Given the description of an element on the screen output the (x, y) to click on. 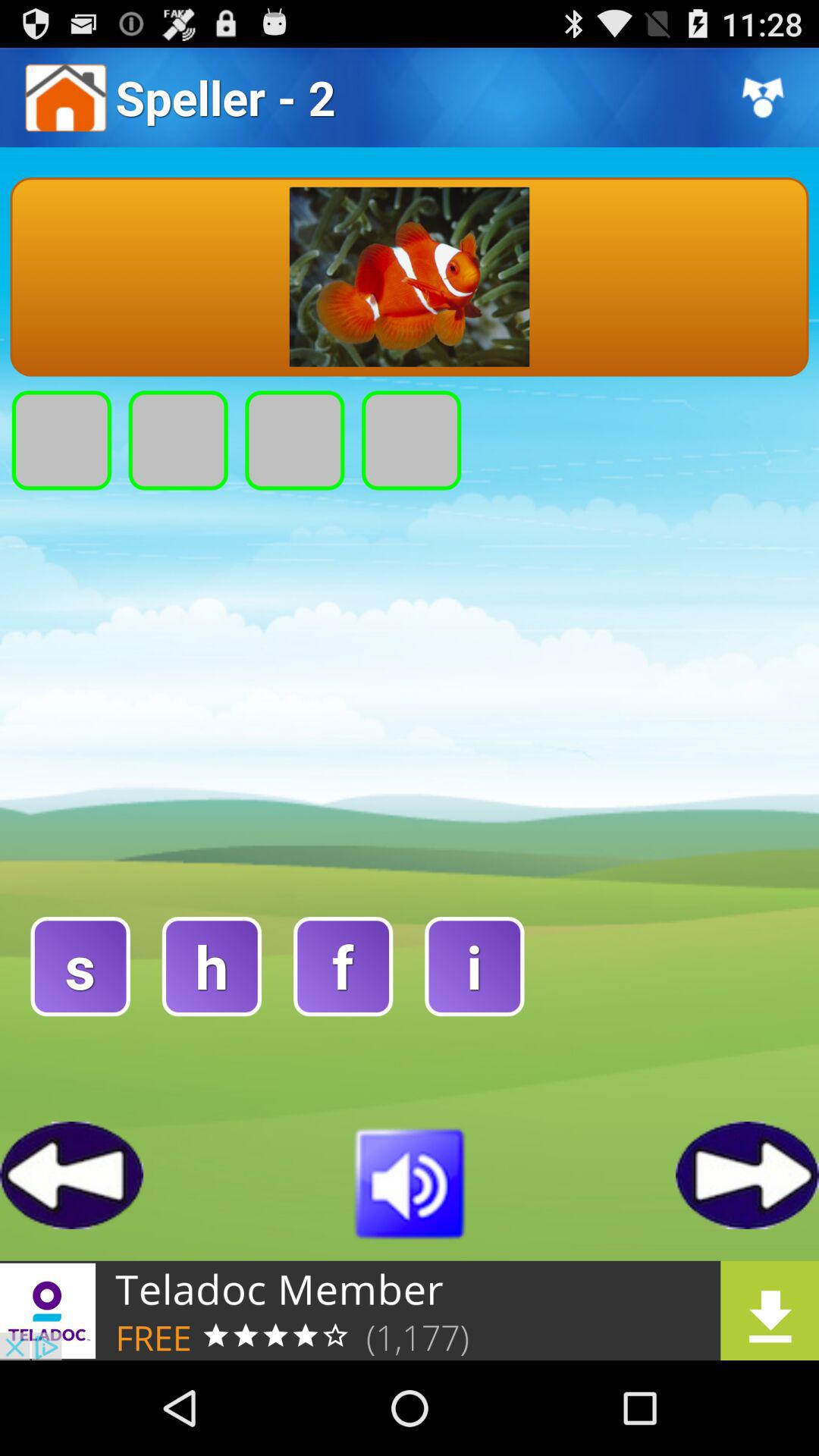
open audio (409, 1181)
